Given the description of an element on the screen output the (x, y) to click on. 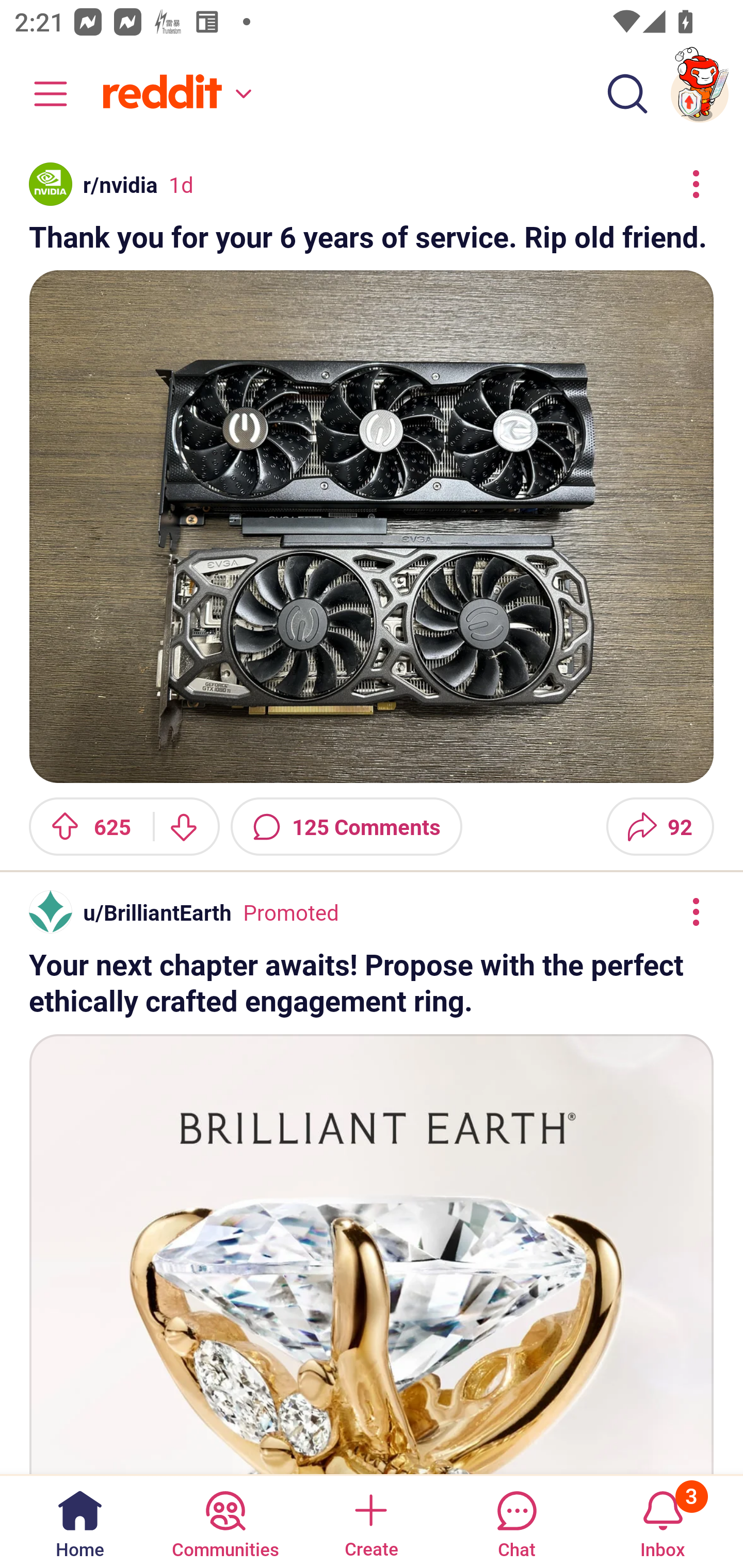
Search (626, 93)
TestAppium002 account (699, 93)
Community menu (41, 94)
Home feed (173, 94)
Home (80, 1520)
Communities (225, 1520)
Create a post Create (370, 1520)
Chat (516, 1520)
Inbox, has 3 notifications 3 Inbox (662, 1520)
